Given the description of an element on the screen output the (x, y) to click on. 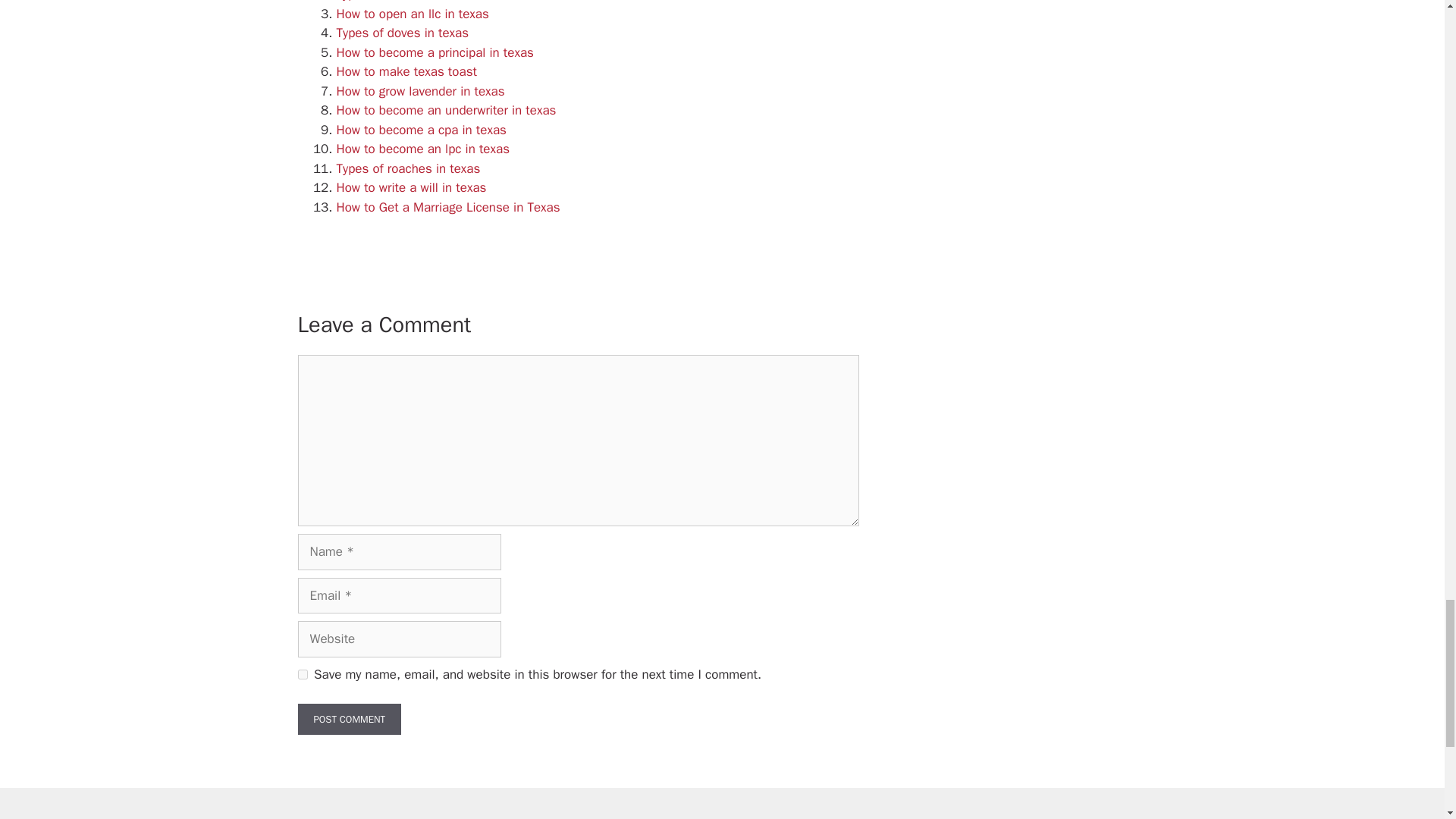
Types of bees in texas (399, 1)
Post Comment (349, 719)
yes (302, 674)
How to open an llc in texas (412, 13)
Types of doves in texas (402, 32)
